Given the description of an element on the screen output the (x, y) to click on. 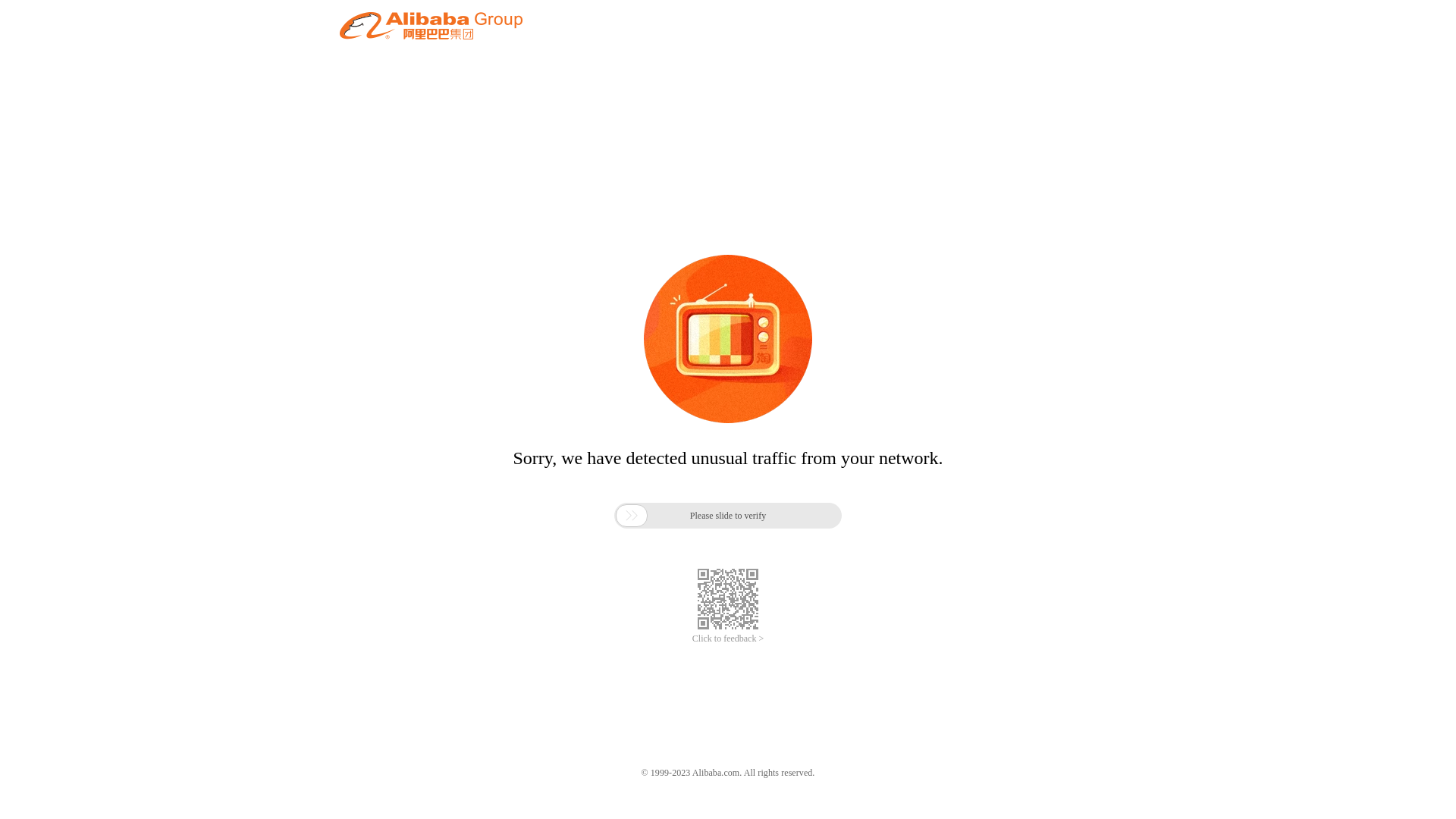
Click to feedback > Element type: text (727, 638)
